Given the description of an element on the screen output the (x, y) to click on. 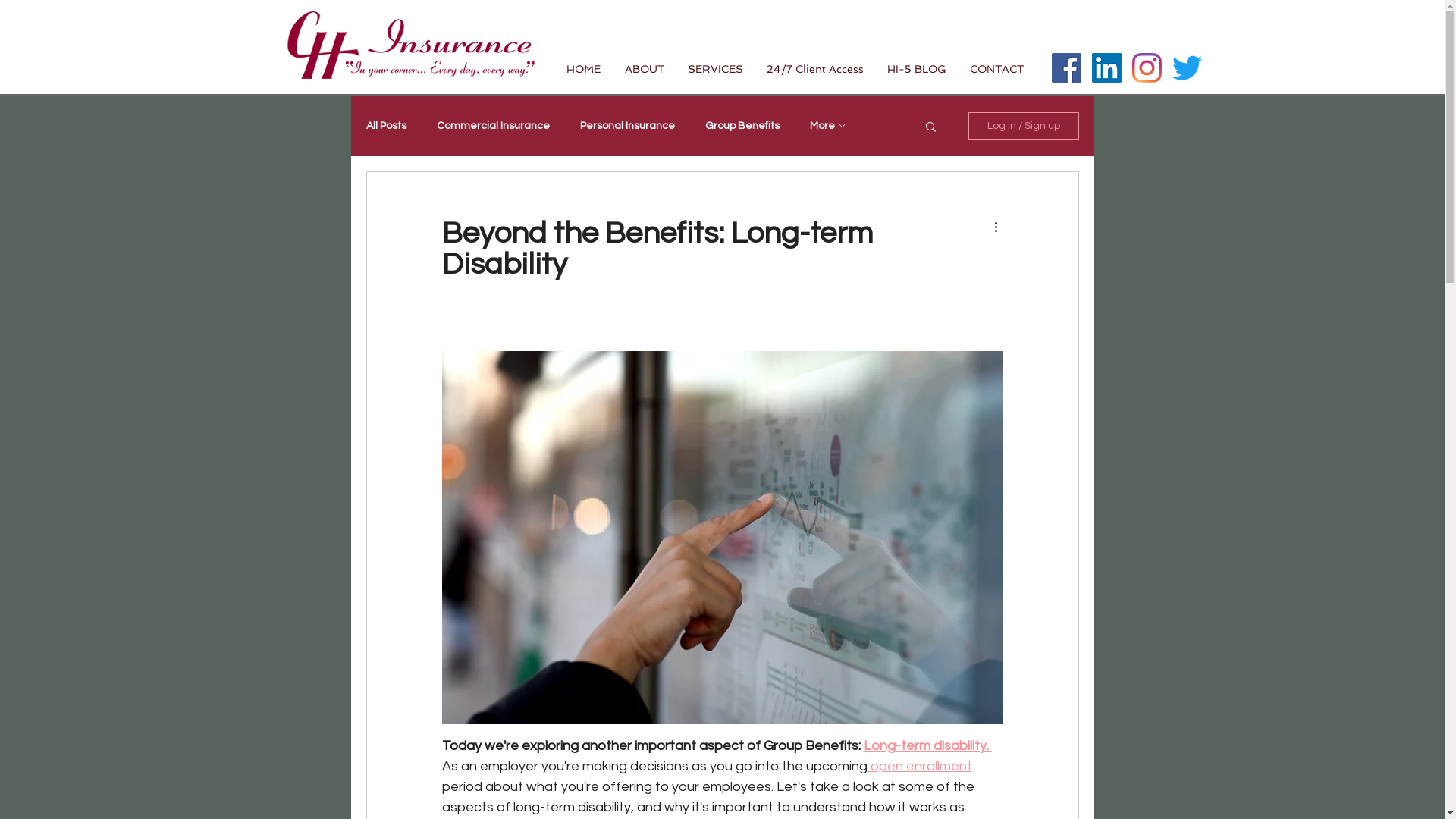
HI-5 BLOG Element type: text (916, 68)
Log in / Sign up Element type: text (1022, 125)
HOME Element type: text (584, 68)
Personal Insurance Element type: text (626, 125)
CONTACT Element type: text (996, 68)
ABOUT Element type: text (643, 68)
 open enrollment Element type: text (919, 766)
SERVICES Element type: text (715, 68)
Long-term disability.  Element type: text (926, 745)
24/7 Client Access Element type: text (815, 68)
All Posts Element type: text (385, 125)
Group Benefits Element type: text (742, 125)
Commercial Insurance Element type: text (492, 125)
